Given the description of an element on the screen output the (x, y) to click on. 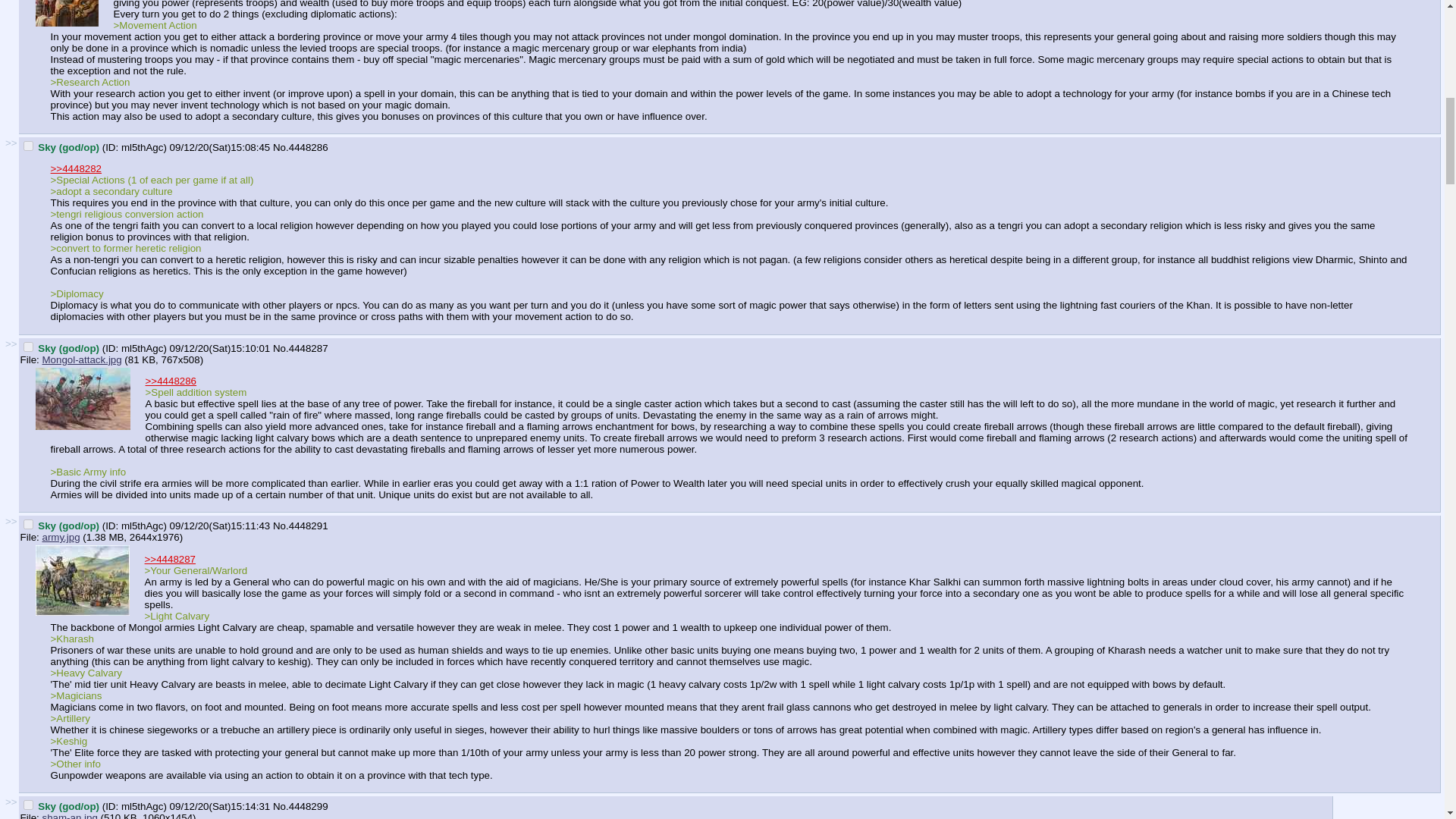
delete (28, 145)
delete (28, 804)
delete (28, 524)
delete (28, 347)
